Given the description of an element on the screen output the (x, y) to click on. 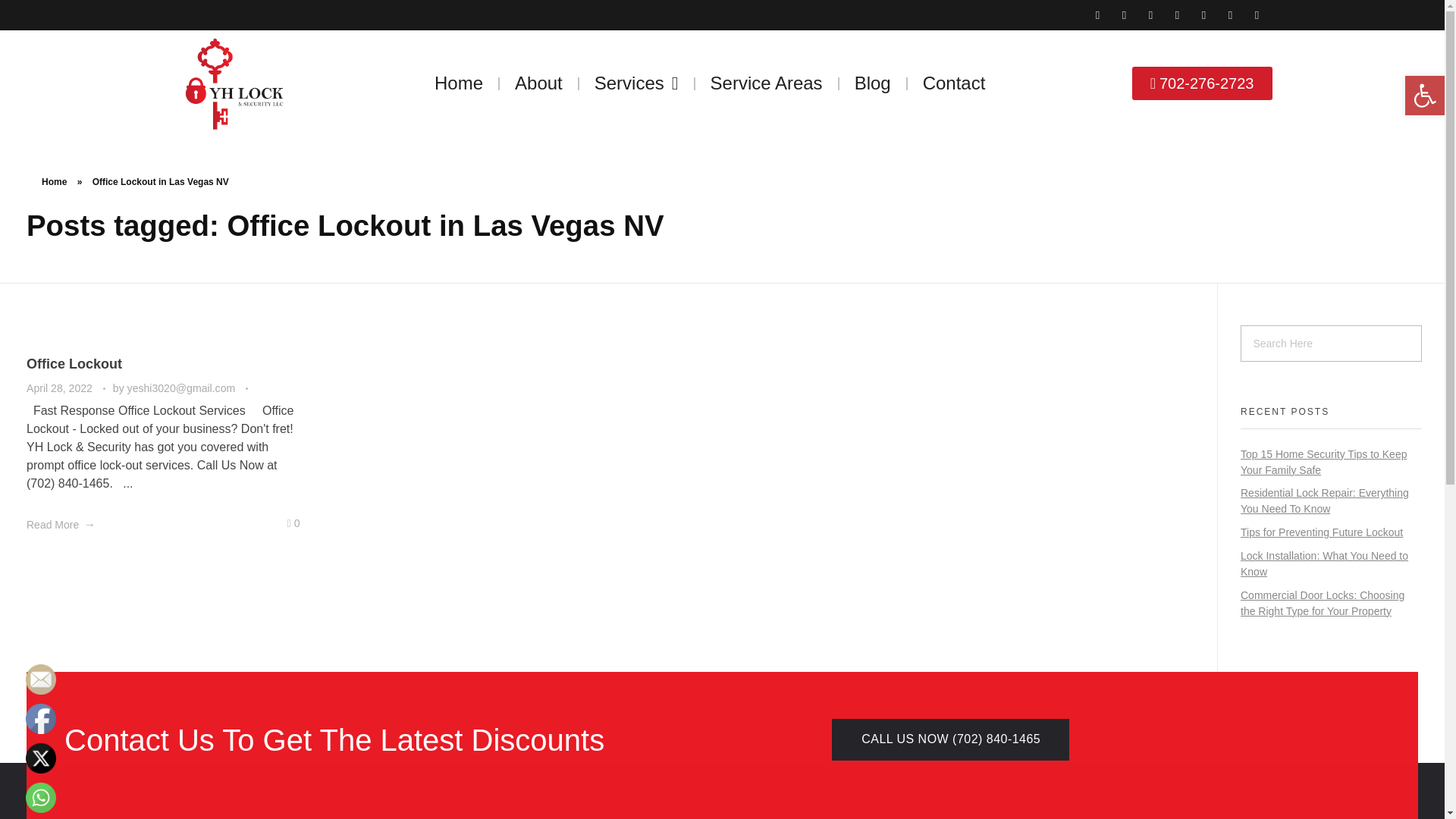
Facebook (41, 718)
Accessibility Tools (1424, 95)
Home (458, 83)
About (538, 83)
WhatsApp (41, 797)
Follow by Email (41, 679)
Twitter (41, 757)
Services (636, 83)
